Given the description of an element on the screen output the (x, y) to click on. 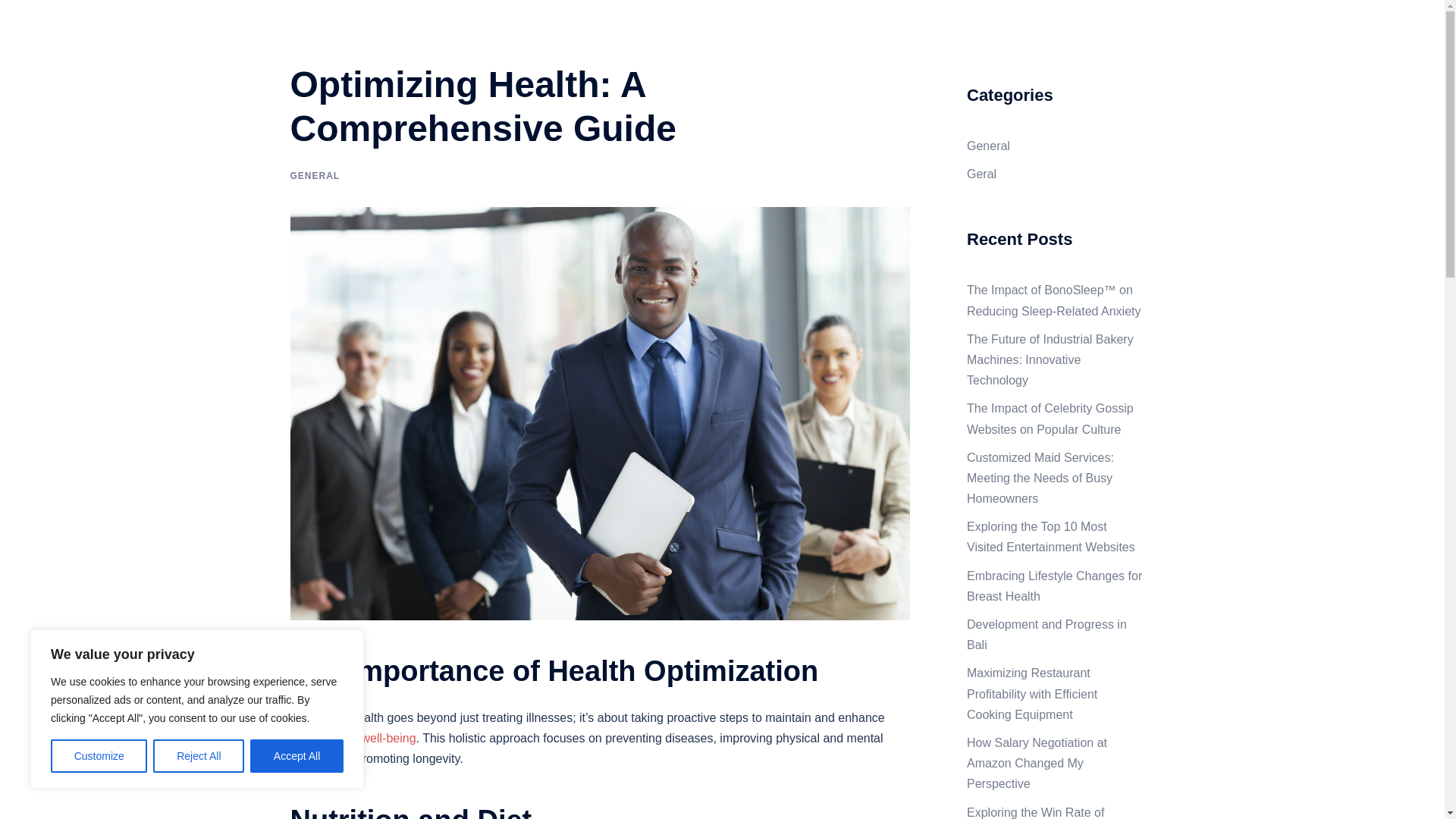
GENERAL (314, 175)
How Salary Negotiation at Amazon Changed My Perspective (1036, 763)
Embracing Lifestyle Changes for Breast Health (1053, 585)
Customize (98, 756)
Geral (980, 173)
General (1125, 38)
Exploring the Top 10 Most Visited Entertainment Websites (1050, 536)
The Impact of Celebrity Gossip Websites on Popular Culture (1050, 418)
General (988, 145)
